Given the description of an element on the screen output the (x, y) to click on. 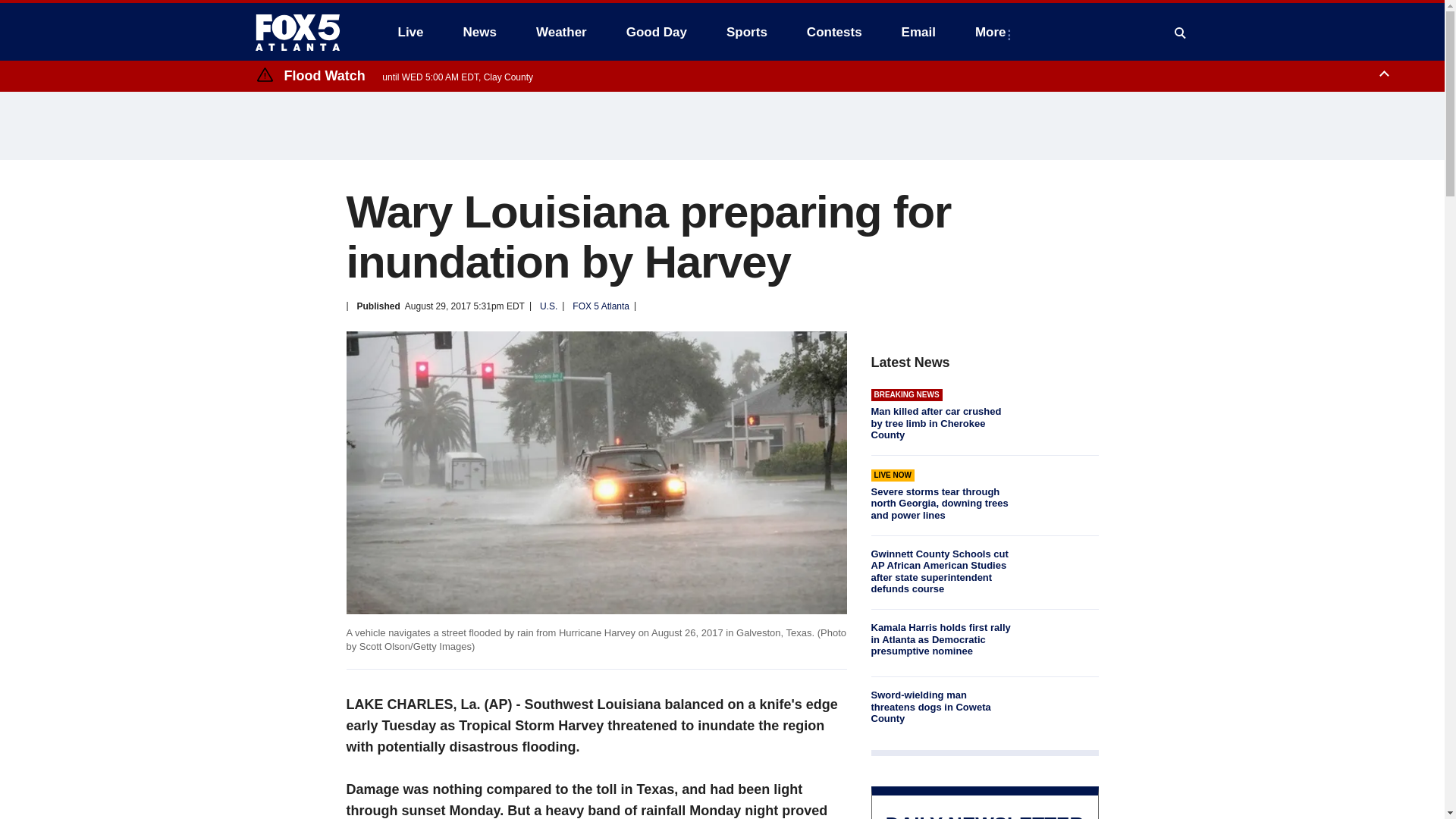
More (993, 32)
Sports (746, 32)
News (479, 32)
Contests (834, 32)
Weather (561, 32)
Email (918, 32)
Live (410, 32)
Good Day (656, 32)
